Given the description of an element on the screen output the (x, y) to click on. 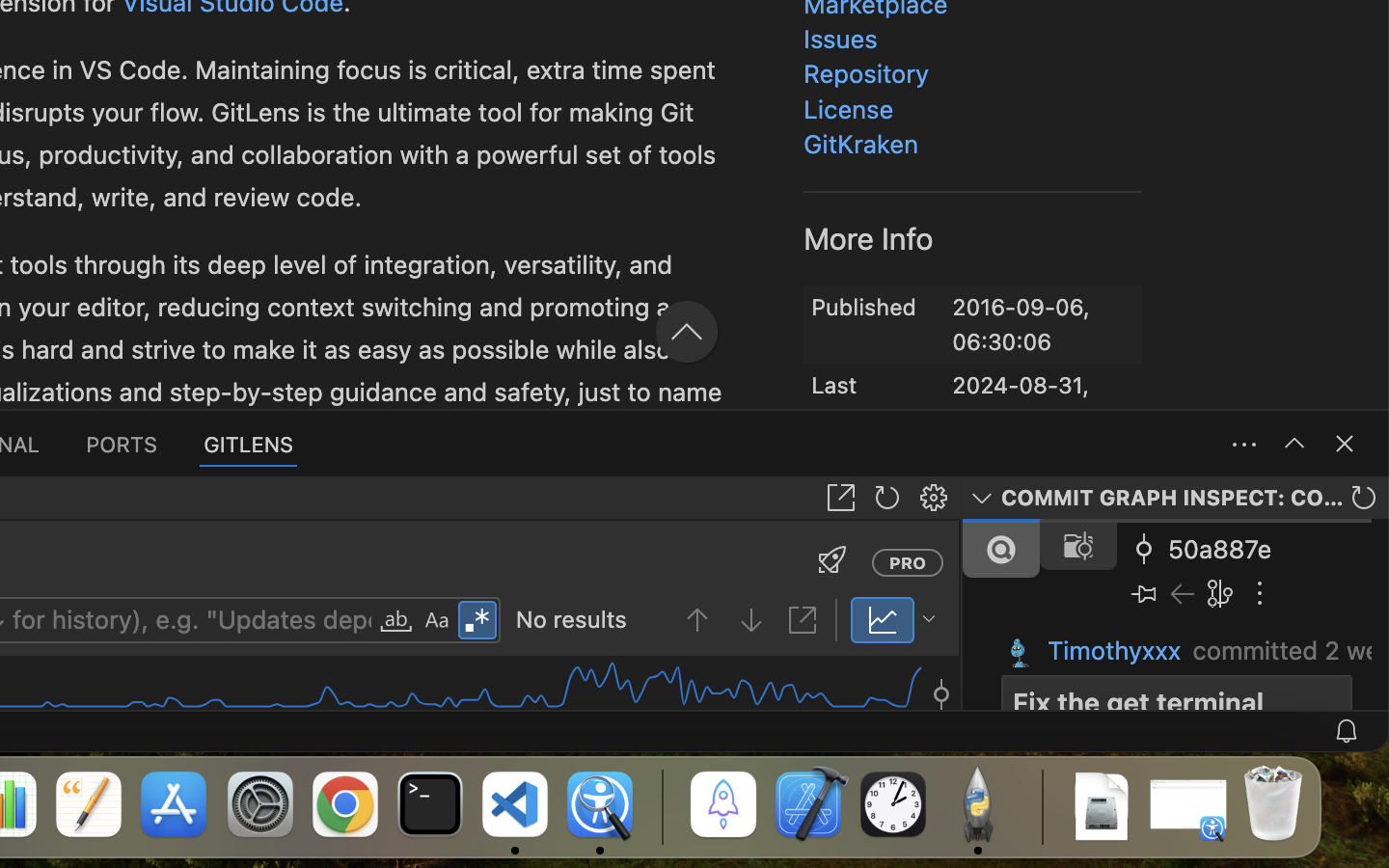
GitLens Element type: AXStaticText (800, 162)
 Element type: AXCheckBox (477, 620)
 Element type: AXButton (840, 497)
 Element type: AXStaticText (459, 223)
GitKraken Element type: AXStaticText (861, 144)
